Given the description of an element on the screen output the (x, y) to click on. 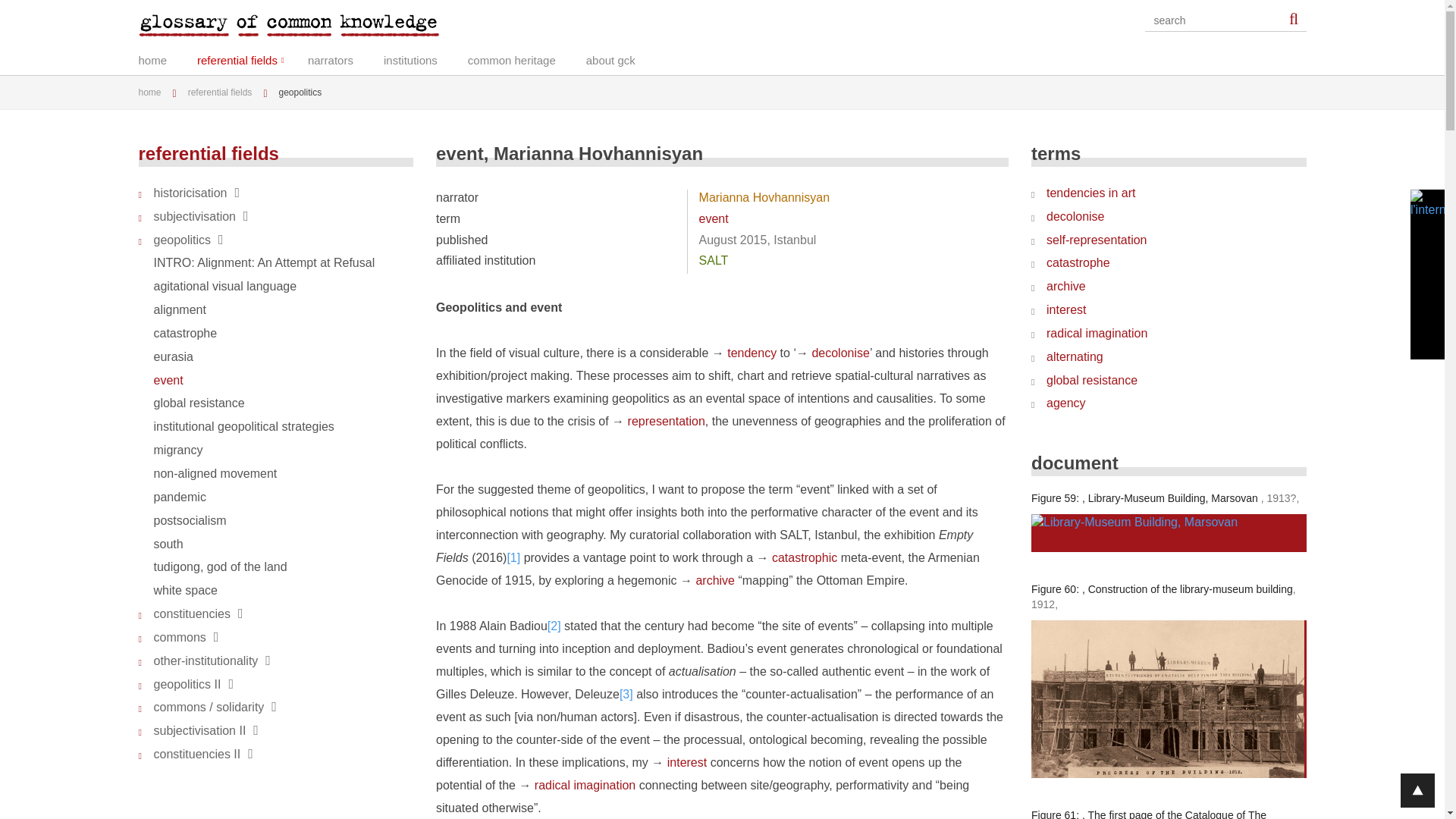
referential fields (225, 91)
about gck (625, 58)
historicisation (275, 193)
subjectivisation (275, 217)
home (167, 58)
home (167, 58)
home (154, 91)
referential fields (251, 58)
referential fields (251, 58)
narrators (345, 58)
